Given the description of an element on the screen output the (x, y) to click on. 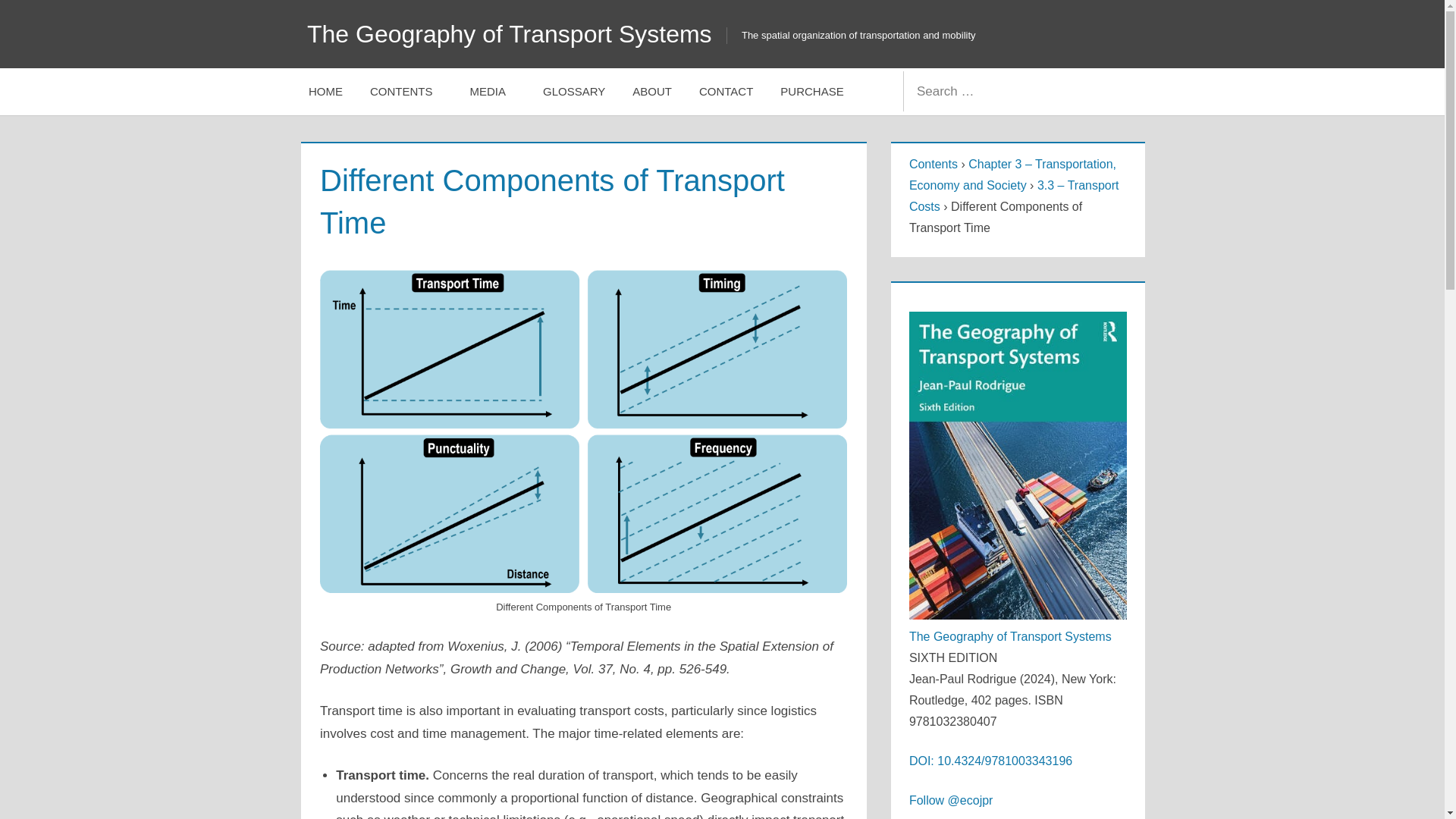
The Geography of Transport Systems (1010, 635)
The Geography of Transport Systems (509, 33)
PURCHASE (812, 91)
CONTENTS (406, 91)
GLOSSARY (573, 91)
CONTACT (726, 91)
Different Components of Transport Time (583, 280)
Search (1118, 91)
Search for: (997, 91)
Contents (933, 164)
MEDIA (493, 91)
Contents (933, 164)
HOME (325, 91)
ABOUT (651, 91)
